Given the description of an element on the screen output the (x, y) to click on. 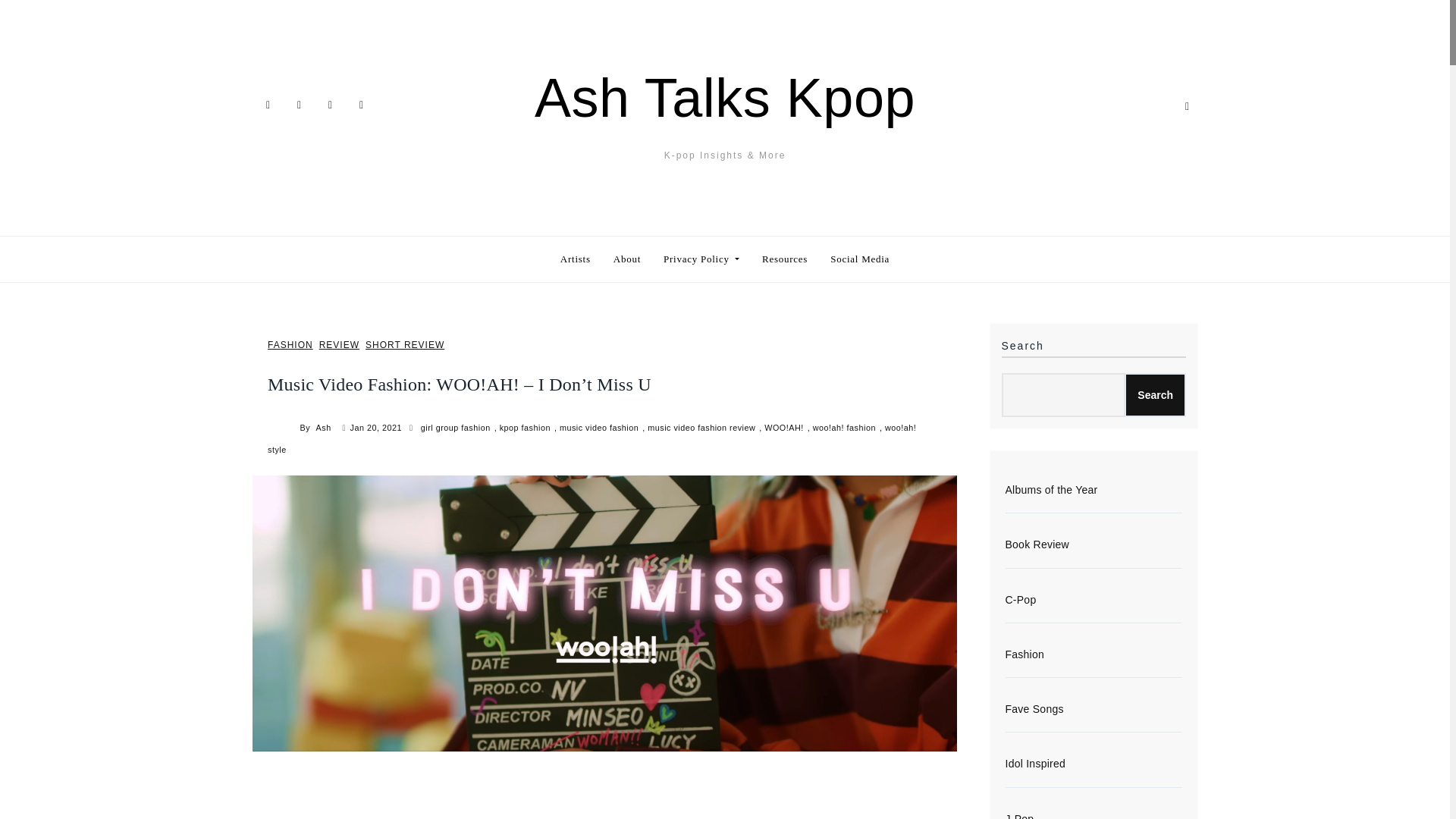
About (627, 258)
music video fashion review (702, 427)
Artists (575, 258)
FASHION (290, 345)
Social Media (859, 258)
music video fashion (600, 427)
kpop fashion (526, 427)
woo!ah! style (591, 438)
Artists (575, 258)
About (627, 258)
